Given the description of an element on the screen output the (x, y) to click on. 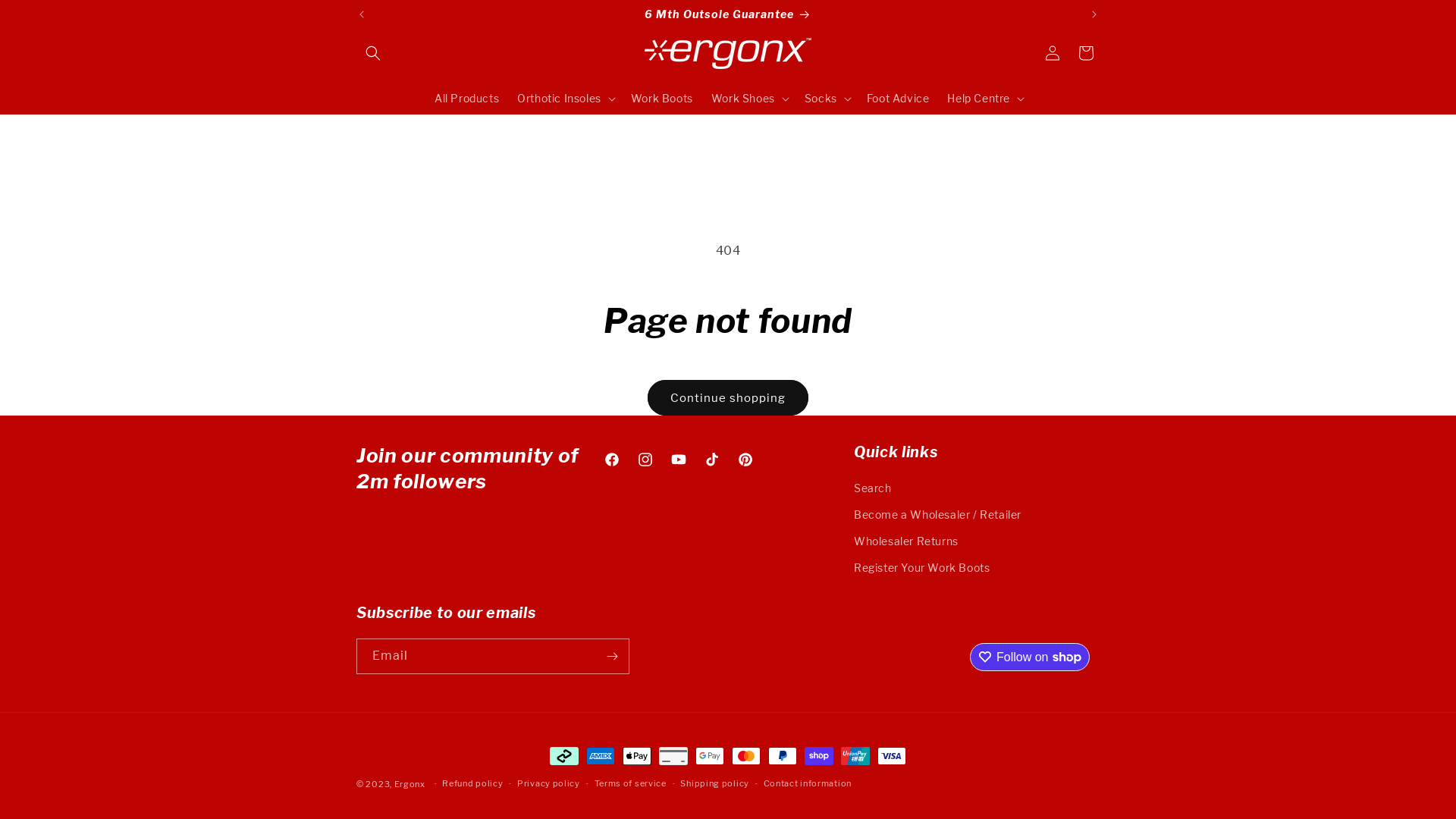
Foot Advice Element type: text (897, 98)
6 Mth Outsole Guarantee Element type: text (727, 14)
Register Your Work Boots Element type: text (921, 567)
Contact information Element type: text (807, 783)
Search Element type: text (872, 489)
Facebook Element type: text (611, 459)
Cart Element type: text (1085, 52)
Log in Element type: text (1052, 52)
Terms of service Element type: text (630, 783)
Privacy policy Element type: text (548, 783)
Wholesaler Returns Element type: text (905, 540)
Ergonx Element type: text (409, 783)
Continue shopping Element type: text (727, 397)
Instagram Element type: text (645, 459)
YouTube Element type: text (678, 459)
Refund policy Element type: text (472, 783)
Pinterest Element type: text (745, 459)
Work Boots Element type: text (661, 98)
Become a Wholesaler / Retailer Element type: text (937, 514)
TikTok Element type: text (711, 459)
All Products Element type: text (466, 98)
Shipping policy Element type: text (714, 783)
